Given the description of an element on the screen output the (x, y) to click on. 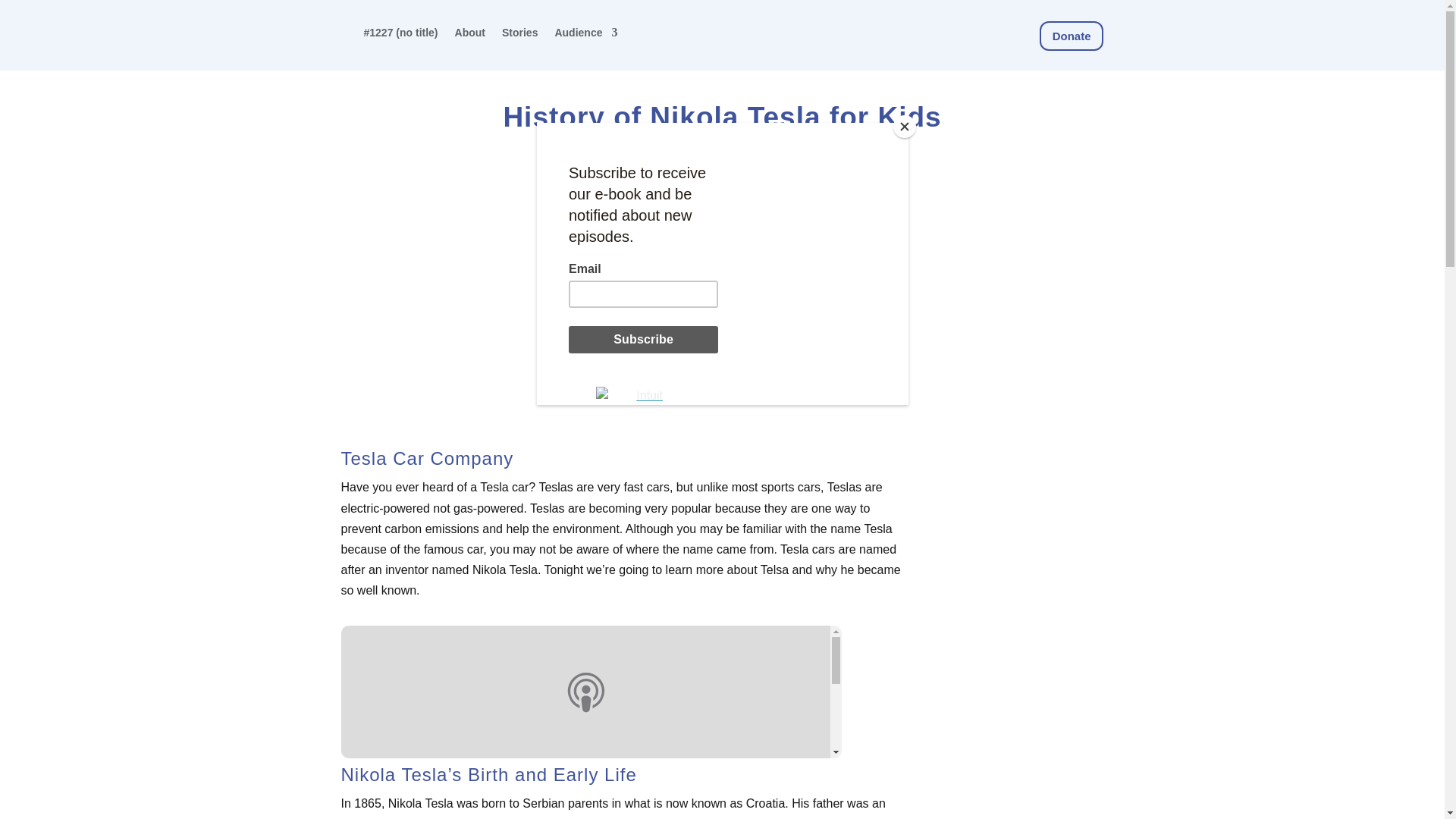
YouTube video player (552, 321)
Audience (585, 32)
Donate (1071, 35)
